Given the description of an element on the screen output the (x, y) to click on. 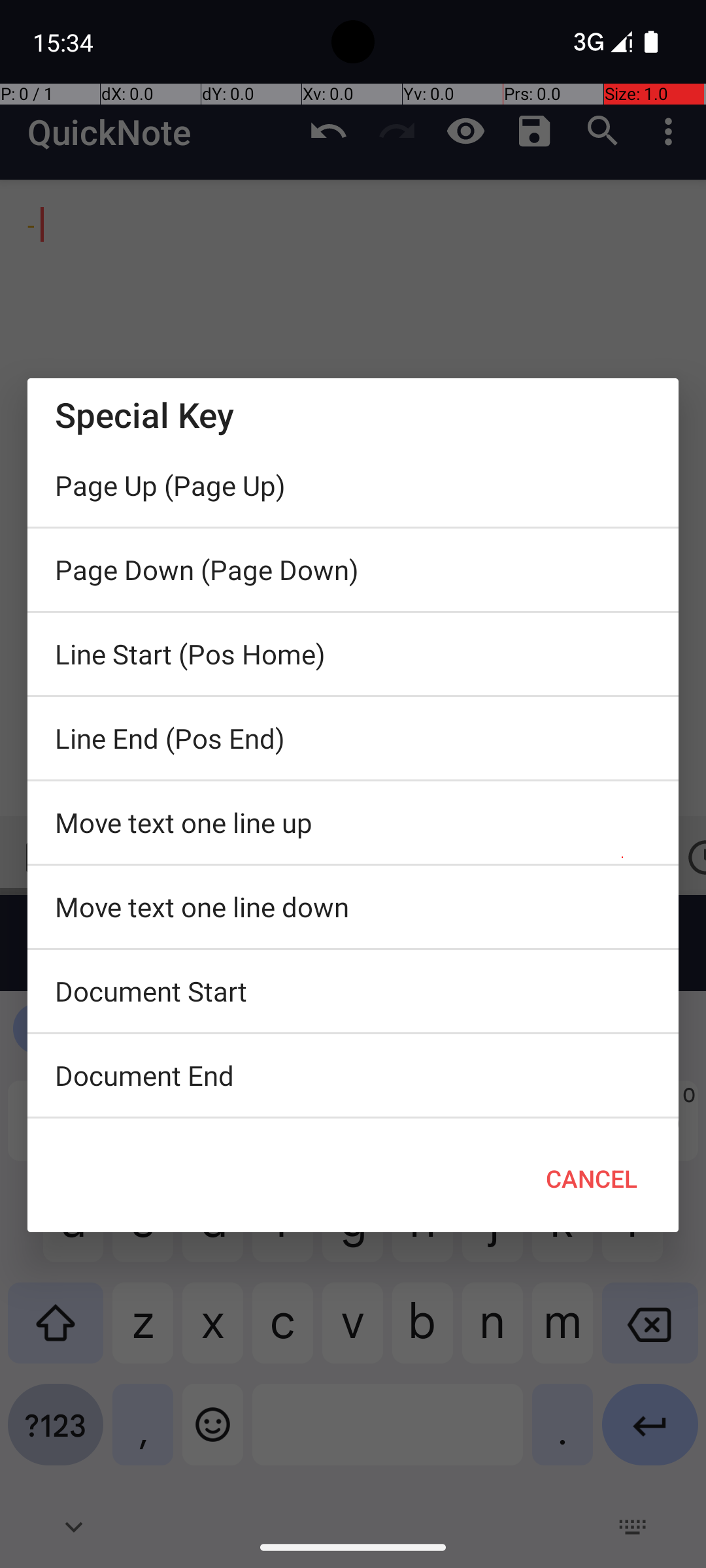
Page Up (Page Up) Element type: android.widget.TextView (352, 485)
Page Down (Page Down) Element type: android.widget.TextView (352, 569)
Line Start (Pos Home) Element type: android.widget.TextView (352, 653)
Line End (Pos End) Element type: android.widget.TextView (352, 738)
Move text one line up Element type: android.widget.TextView (352, 822)
Move text one line down Element type: android.widget.TextView (352, 906)
Document Start Element type: android.widget.TextView (352, 990)
Document End Element type: android.widget.TextView (352, 1075)
Select all (Ctrl+A) Element type: android.widget.TextView (352, 1121)
